Given the description of an element on the screen output the (x, y) to click on. 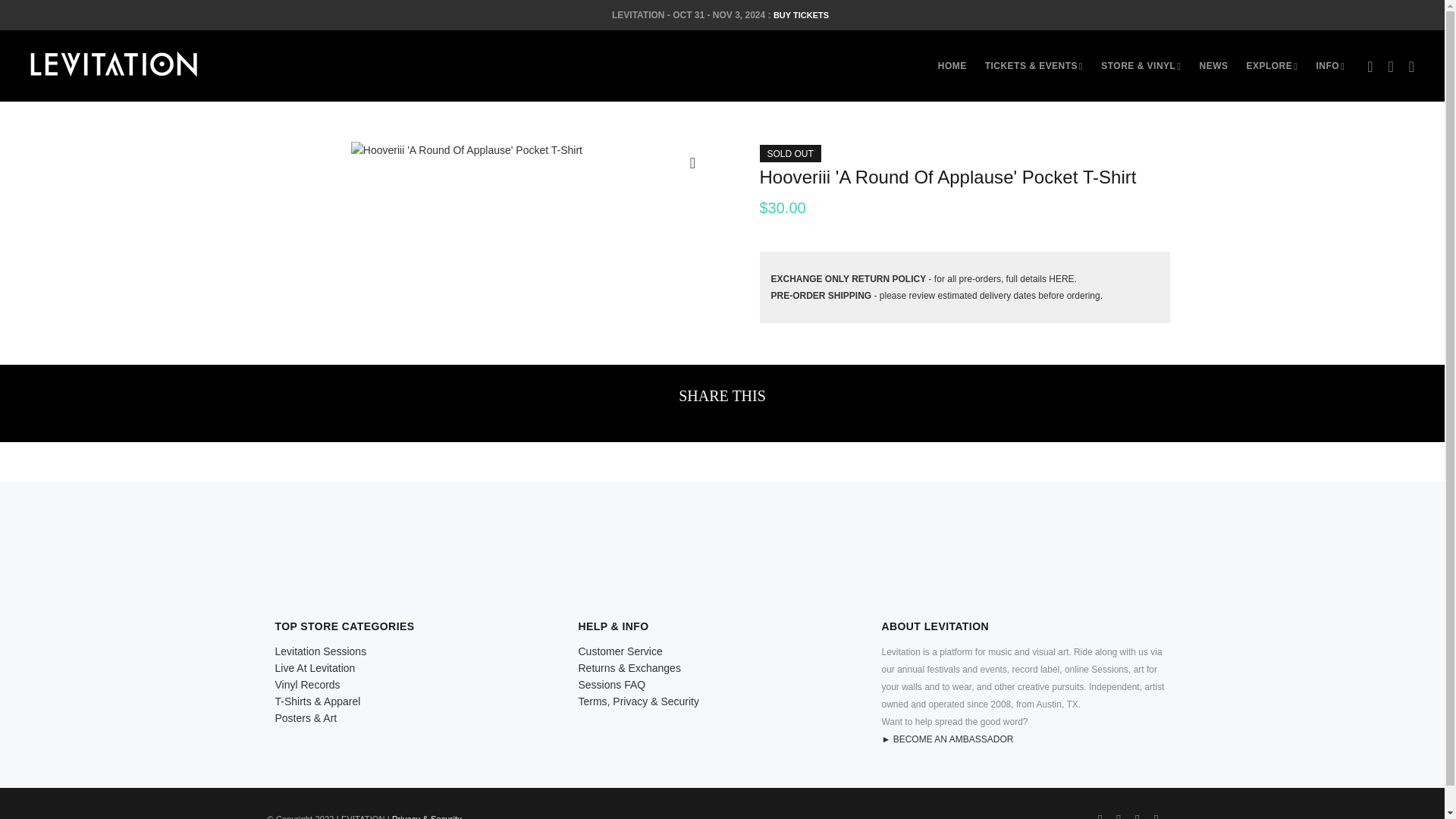
BUY TICKETS (800, 14)
